Given the description of an element on the screen output the (x, y) to click on. 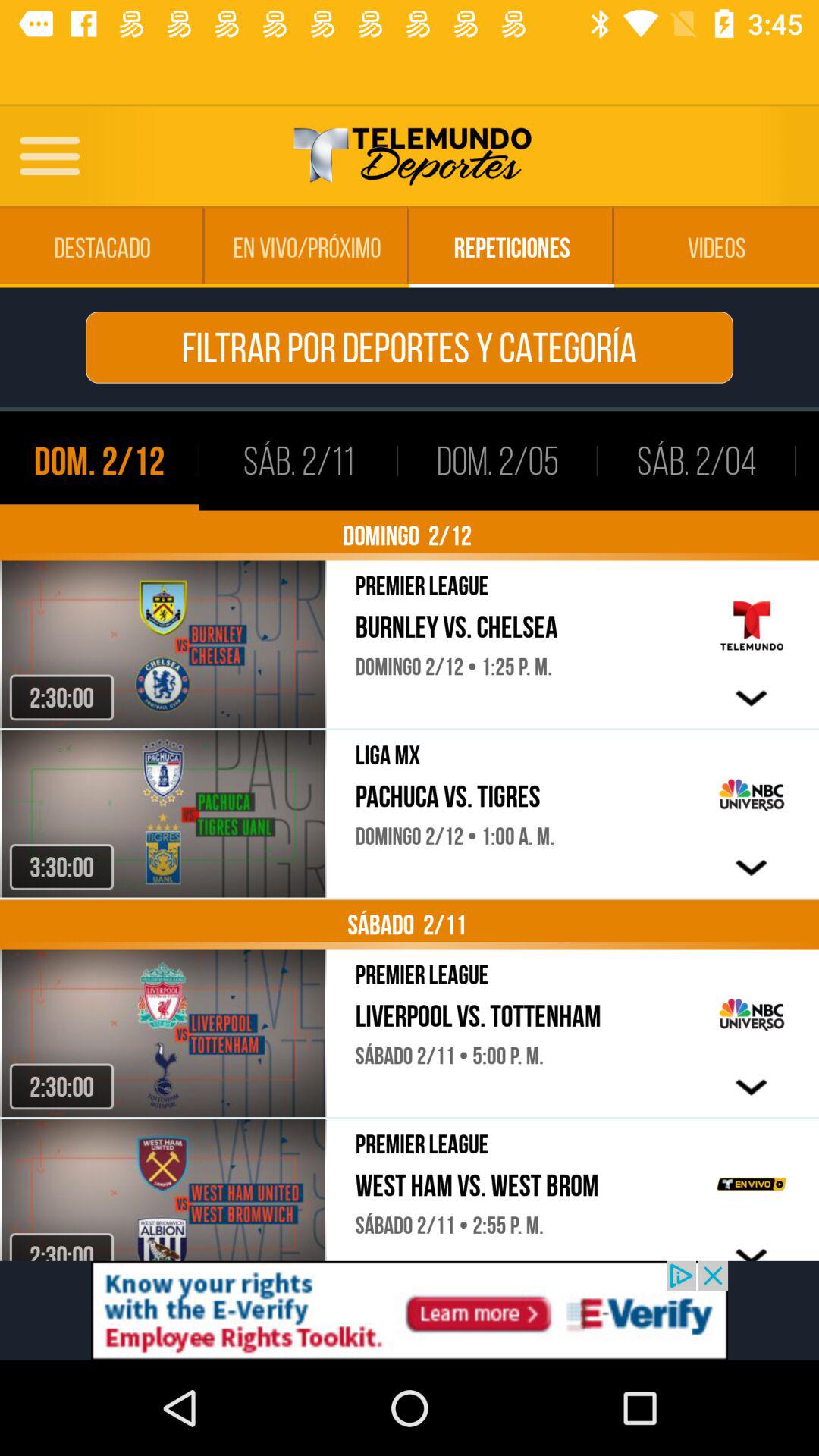
advertisement (409, 1310)
